Given the description of an element on the screen output the (x, y) to click on. 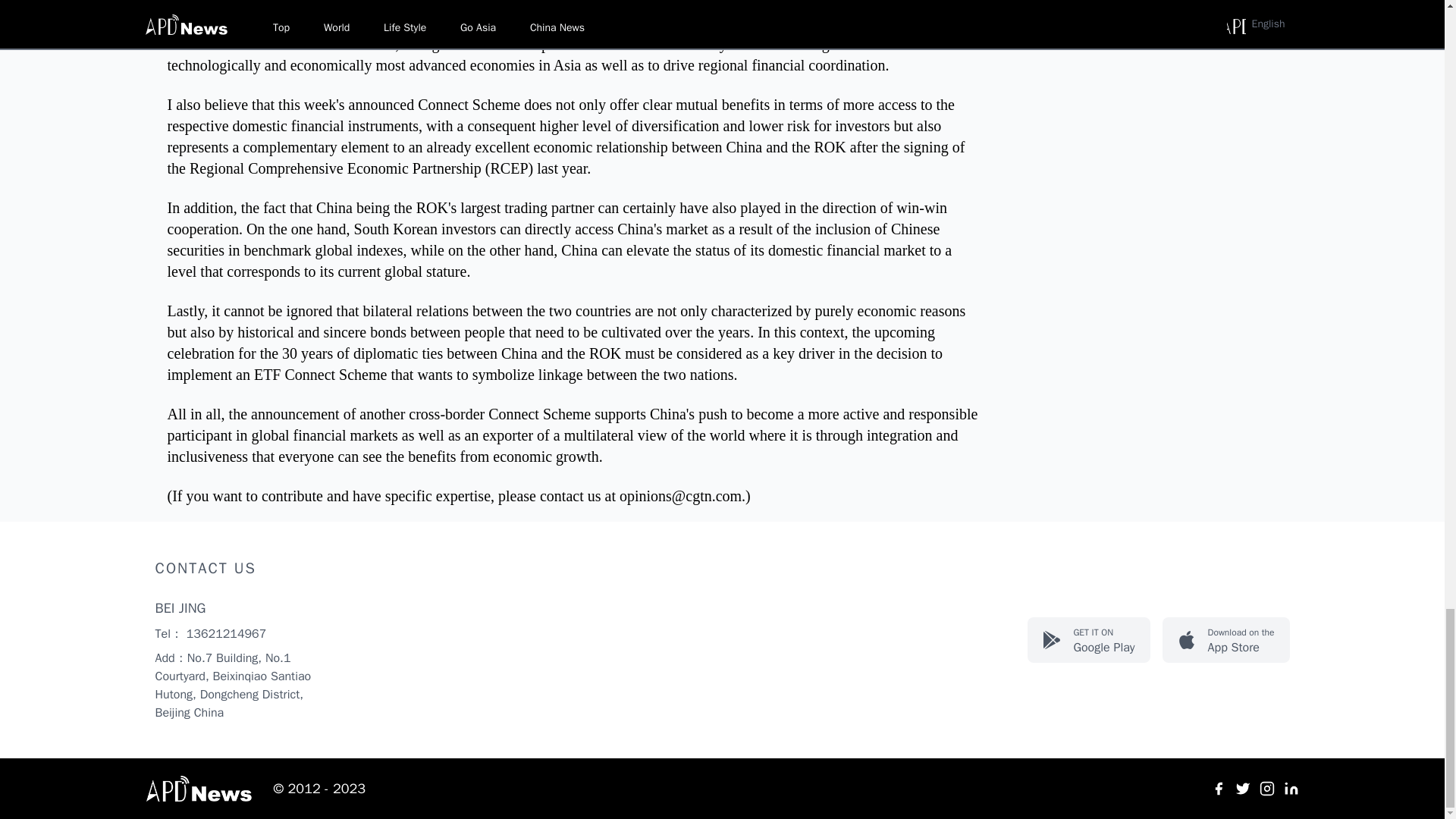
tt (1217, 788)
ww (1241, 788)
